Given the description of an element on the screen output the (x, y) to click on. 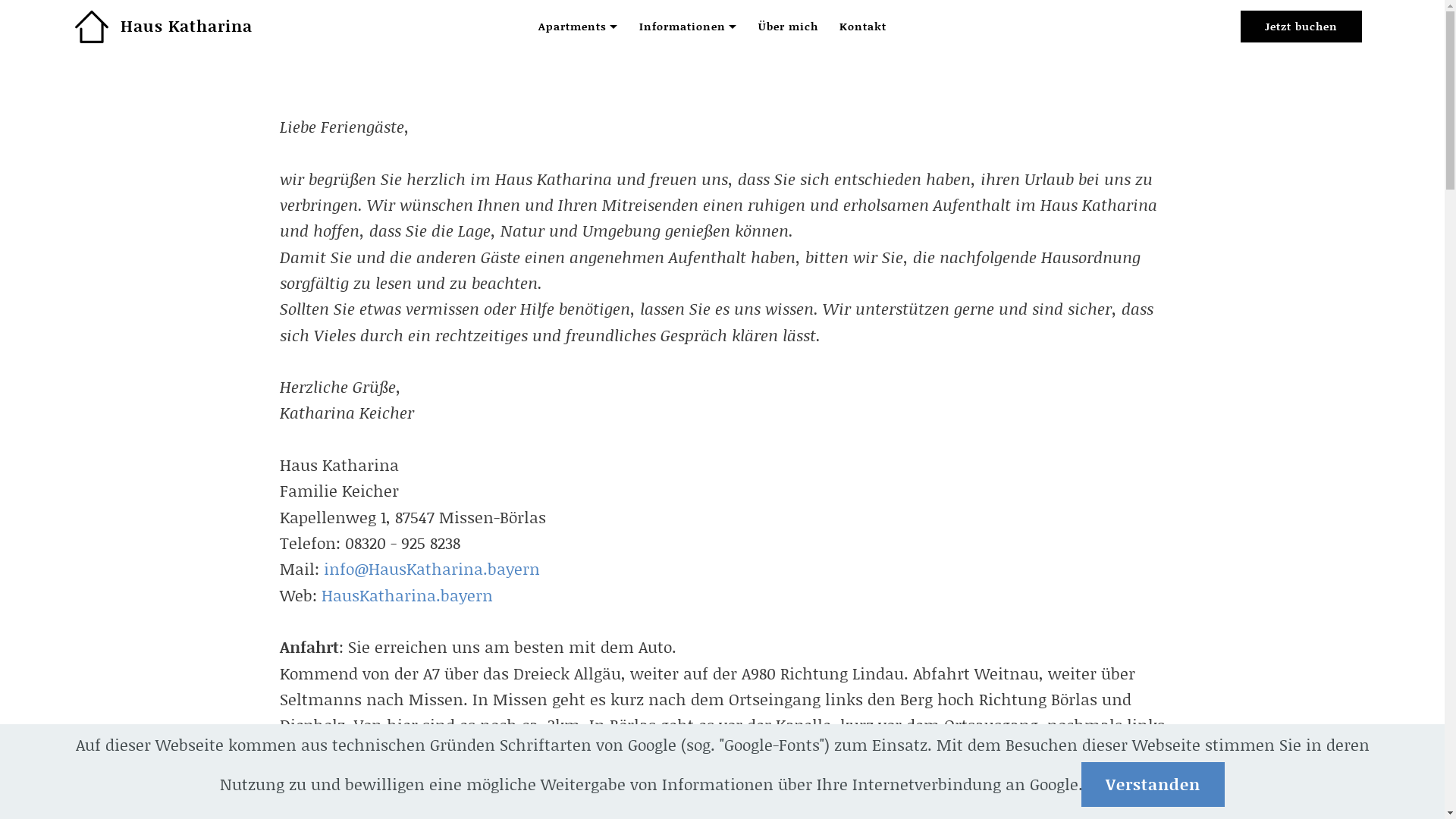
Apartments Element type: text (577, 26)
HausKatharina.bayern Element type: text (406, 594)
Informationen Element type: text (687, 26)
Haus Katharina Element type: text (186, 25)
Jetzt buchen Element type: text (1300, 26)
Kontakt Element type: text (862, 26)
info@HausKatharina.bayern Element type: text (431, 568)
Verstanden Element type: text (1152, 784)
